Given the description of an element on the screen output the (x, y) to click on. 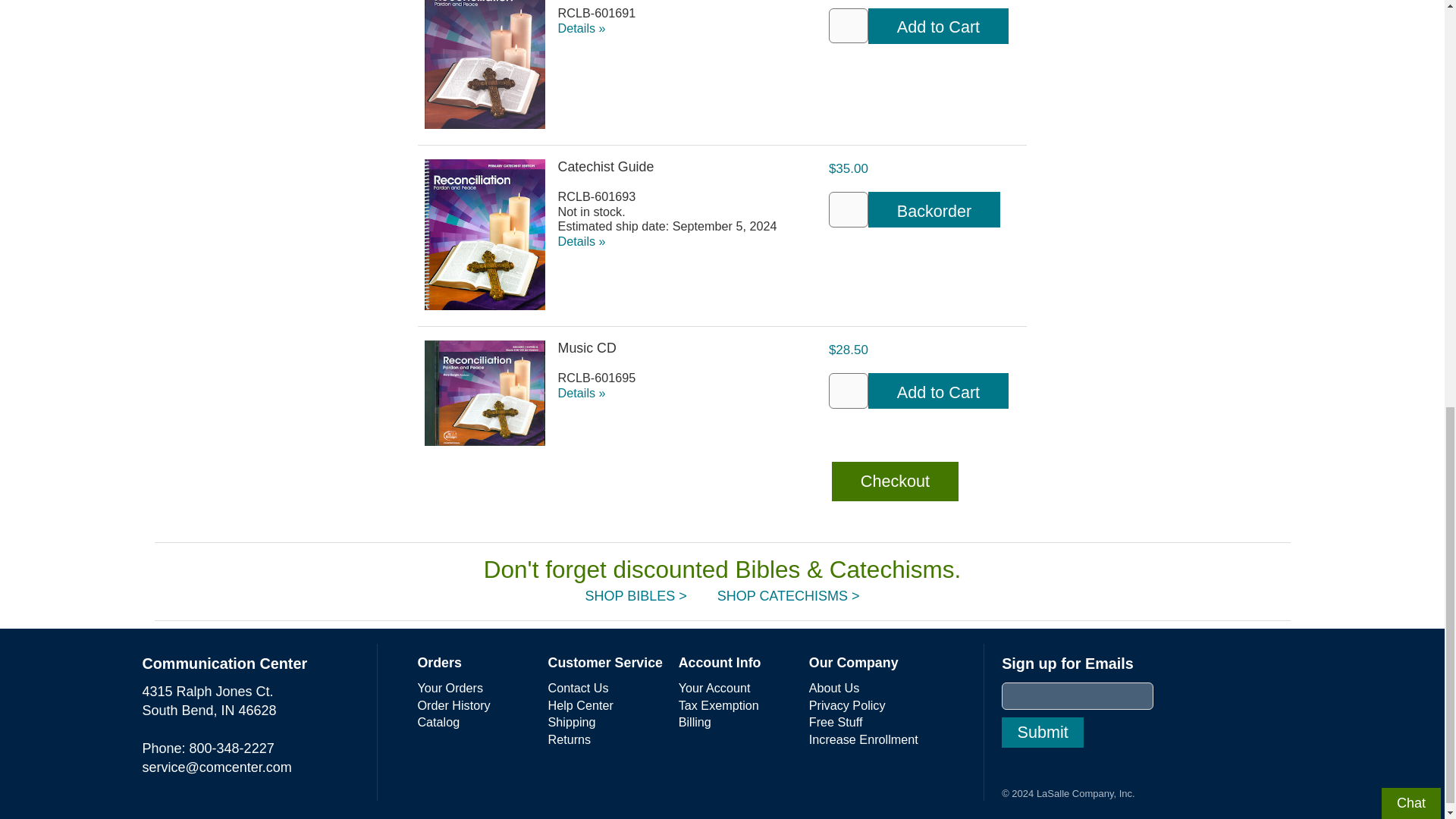
Add to Cart (938, 390)
Backorder (933, 209)
Add to Cart (938, 26)
Submit (1042, 732)
